Given the description of an element on the screen output the (x, y) to click on. 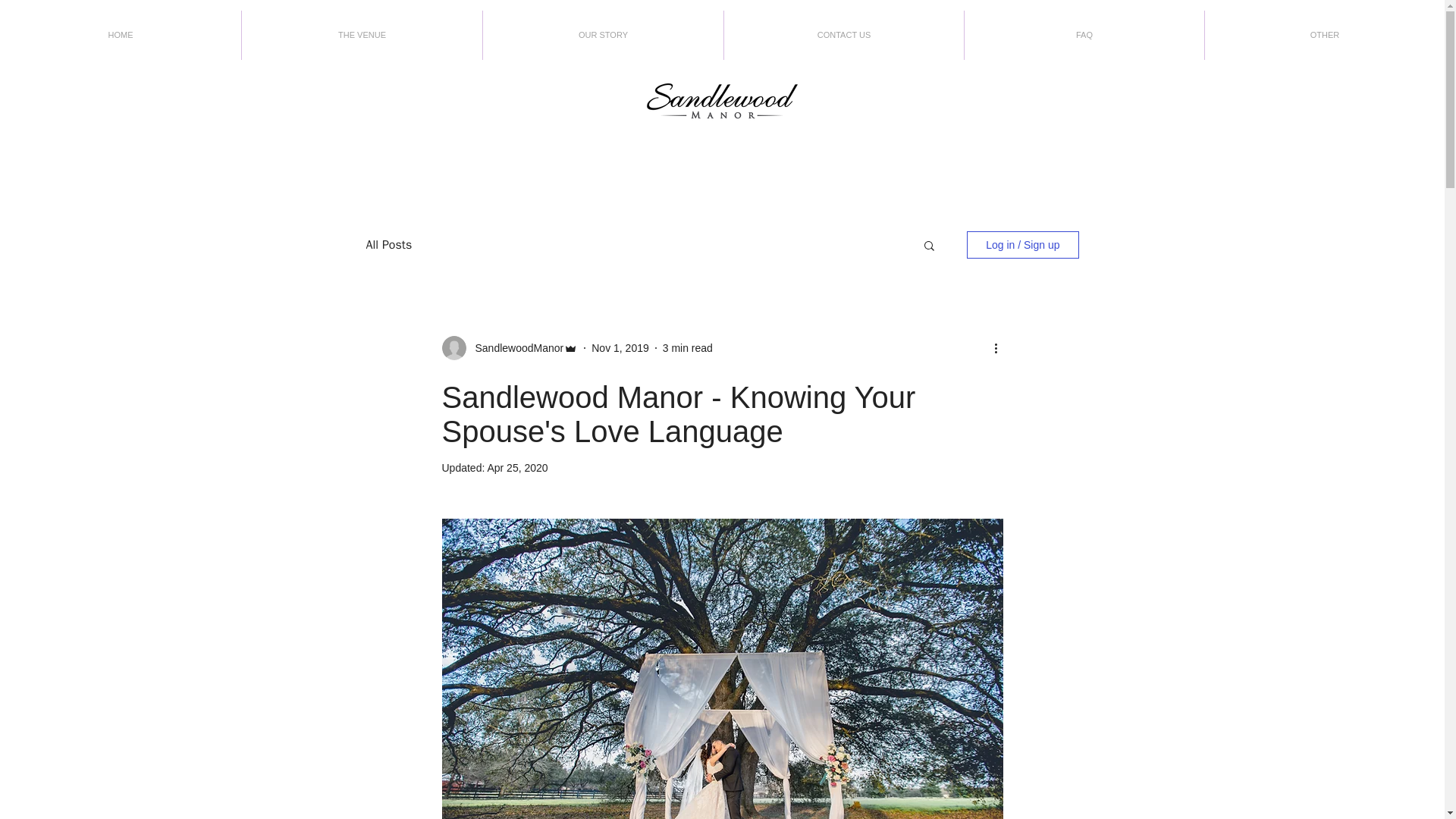
OUR STORY (603, 34)
THE VENUE (361, 34)
CONTACT US (843, 34)
HOME (120, 34)
FAQ (1083, 34)
Nov 1, 2019 (620, 346)
Apr 25, 2020 (516, 467)
3 min read (687, 346)
All Posts (388, 244)
SandlewoodManor (514, 347)
